Given the description of an element on the screen output the (x, y) to click on. 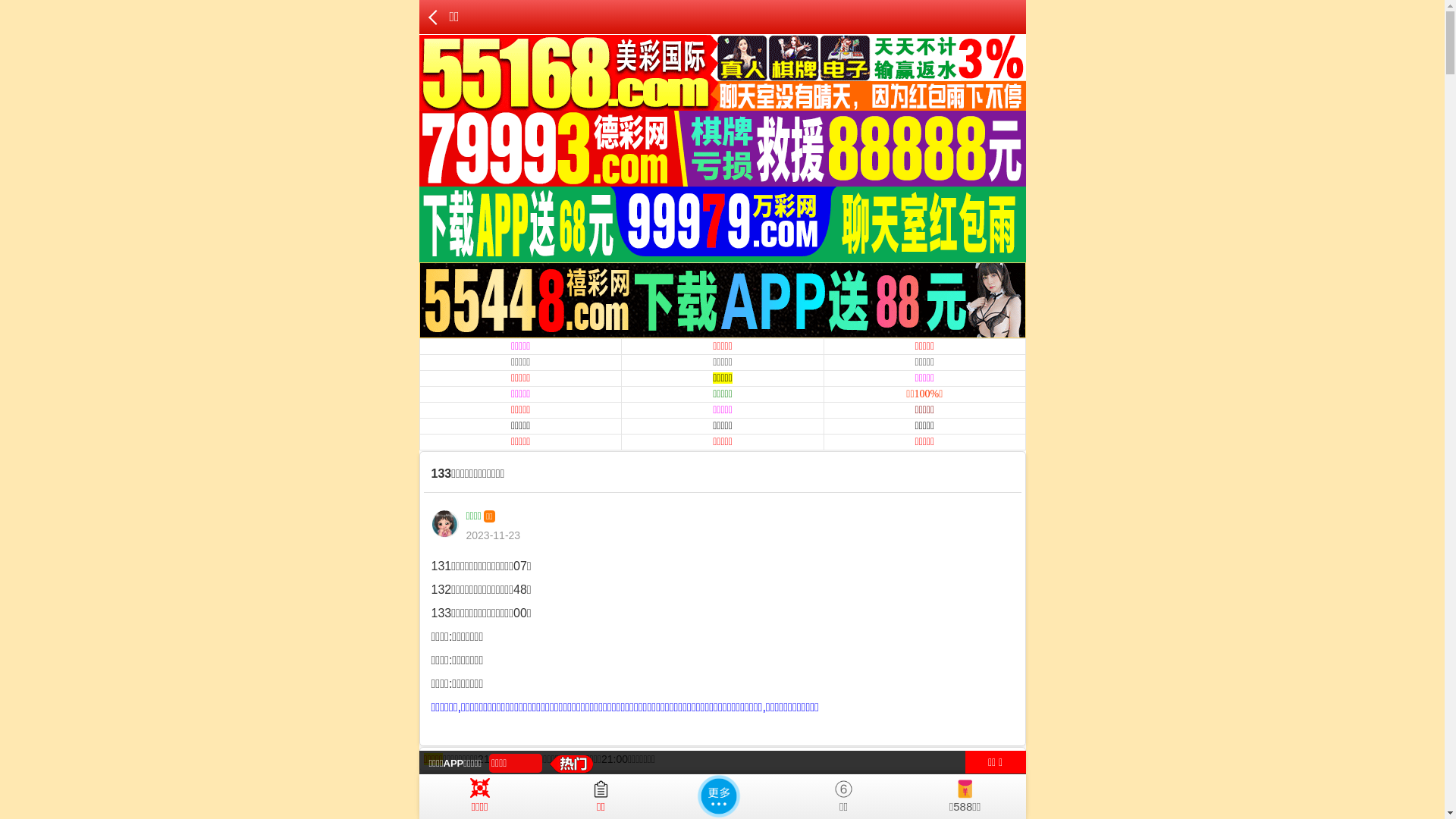
9011 Element type: text (680, 800)
42 Element type: text (767, 800)
